Given the description of an element on the screen output the (x, y) to click on. 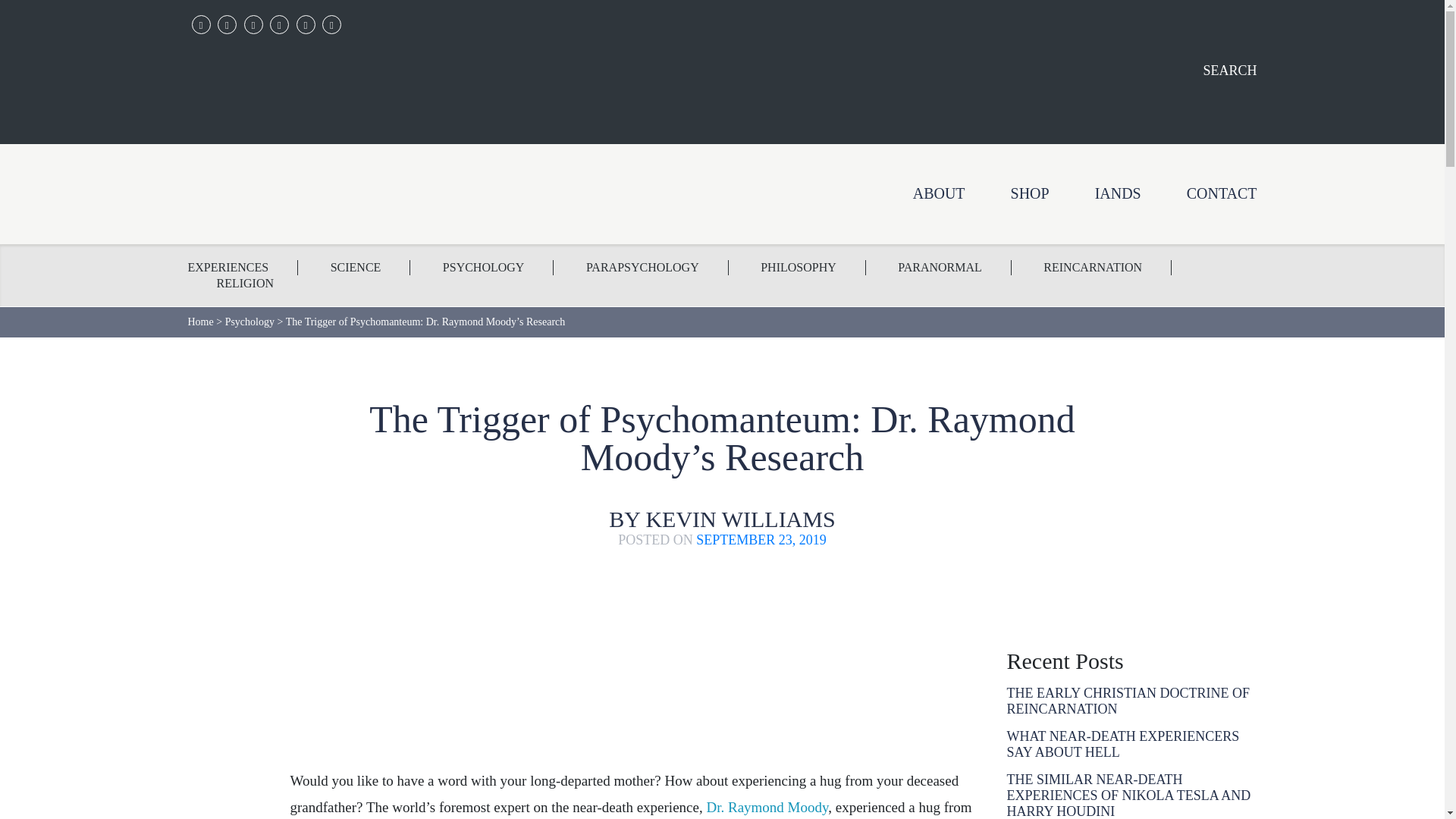
SCIENCE (355, 267)
REINCARNATION (1093, 267)
PARANORMAL (940, 267)
SEARCH (1114, 71)
SHOP (1029, 193)
ABOUT (938, 193)
PHILOSOPHY (799, 267)
PARAPSYCHOLOGY (643, 267)
EXPERIENCES (242, 267)
CONTACT (1221, 193)
